Given the description of an element on the screen output the (x, y) to click on. 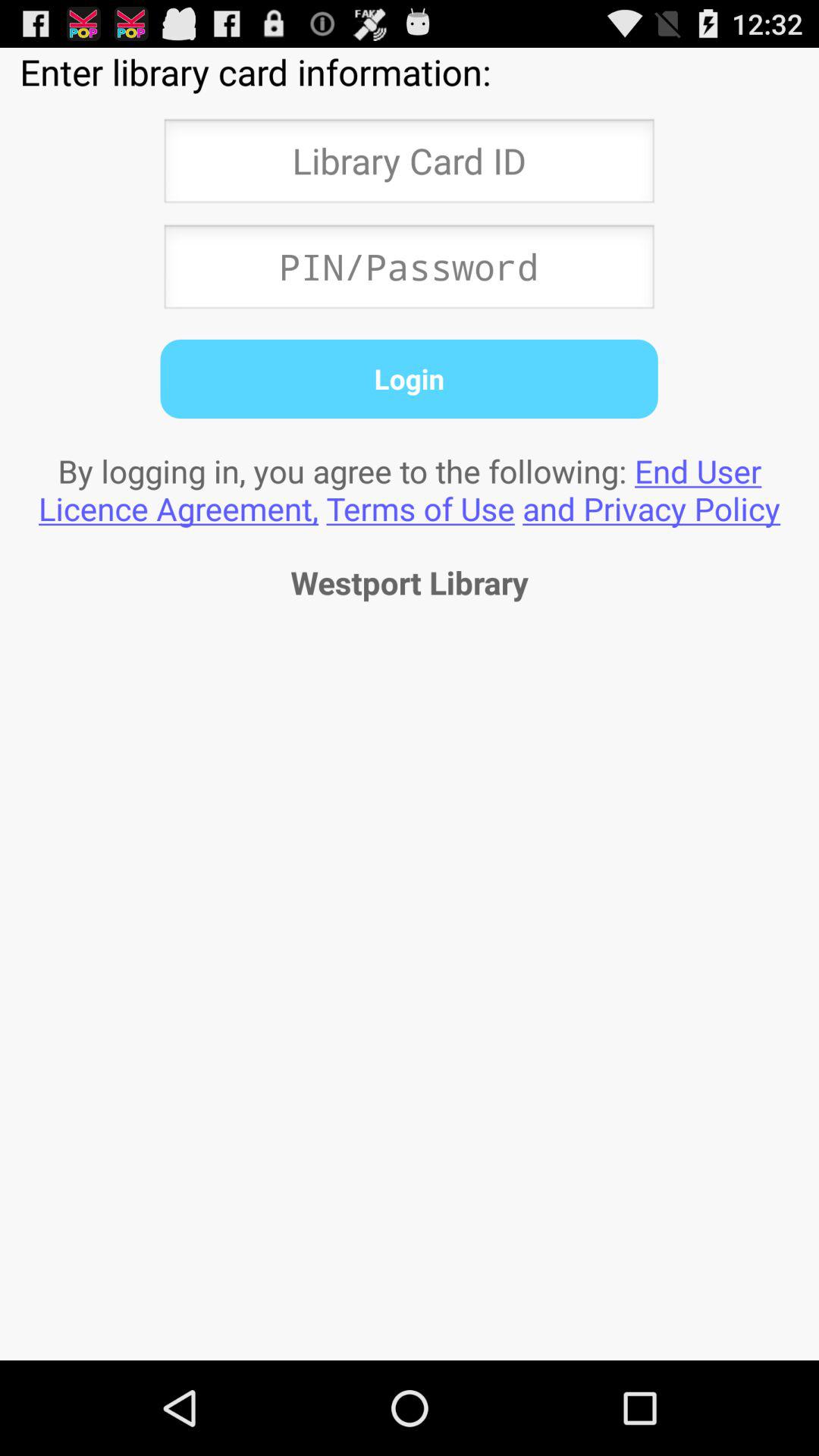
turn on button below login button (409, 489)
